Given the description of an element on the screen output the (x, y) to click on. 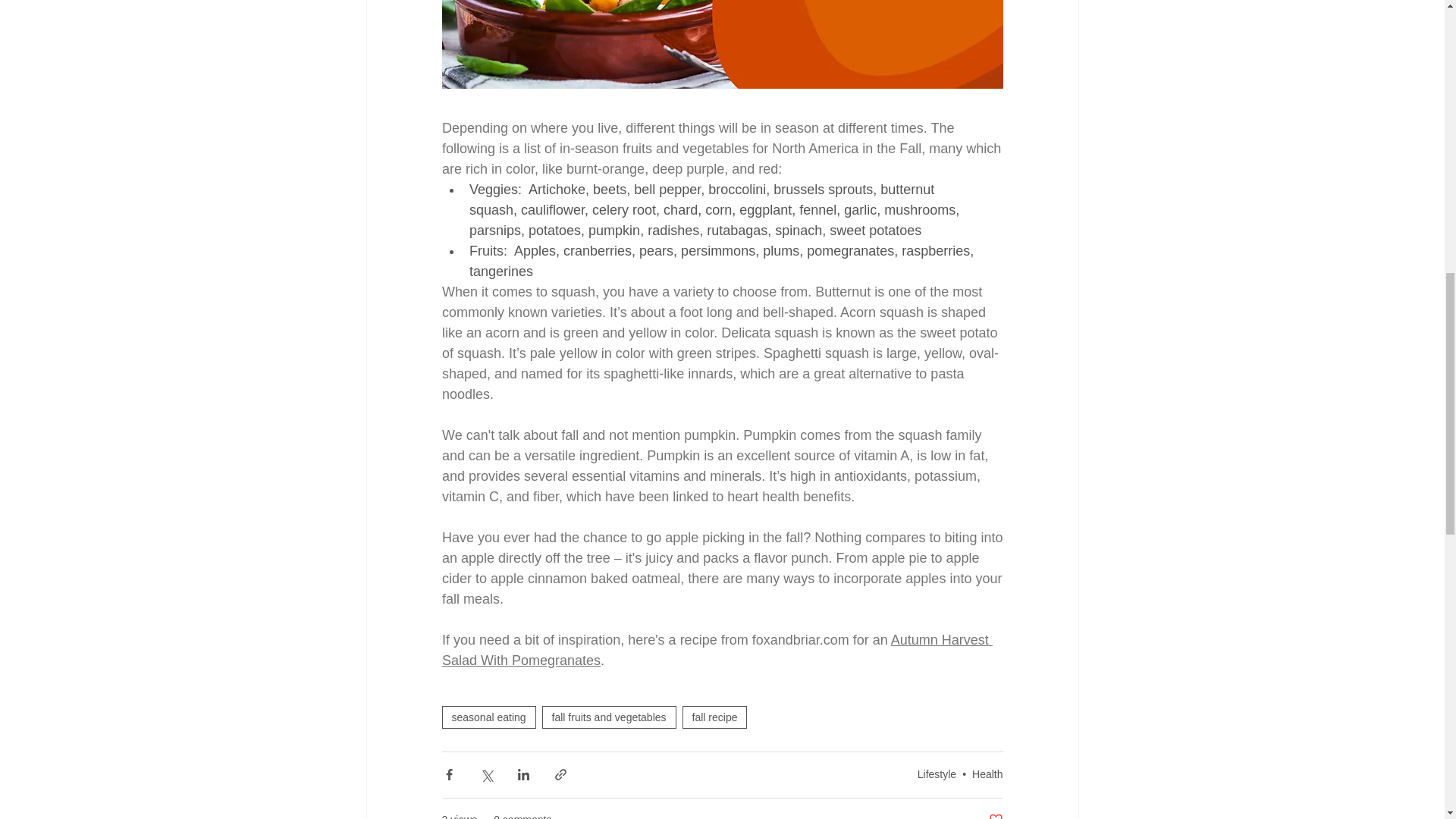
seasonal eating (488, 716)
fall recipe (715, 716)
Autumn Harvest Salad With Pomegranates (716, 650)
Post not marked as liked (995, 815)
fall fruits and vegetables (609, 716)
Health (987, 774)
Lifestyle (936, 774)
